Given the description of an element on the screen output the (x, y) to click on. 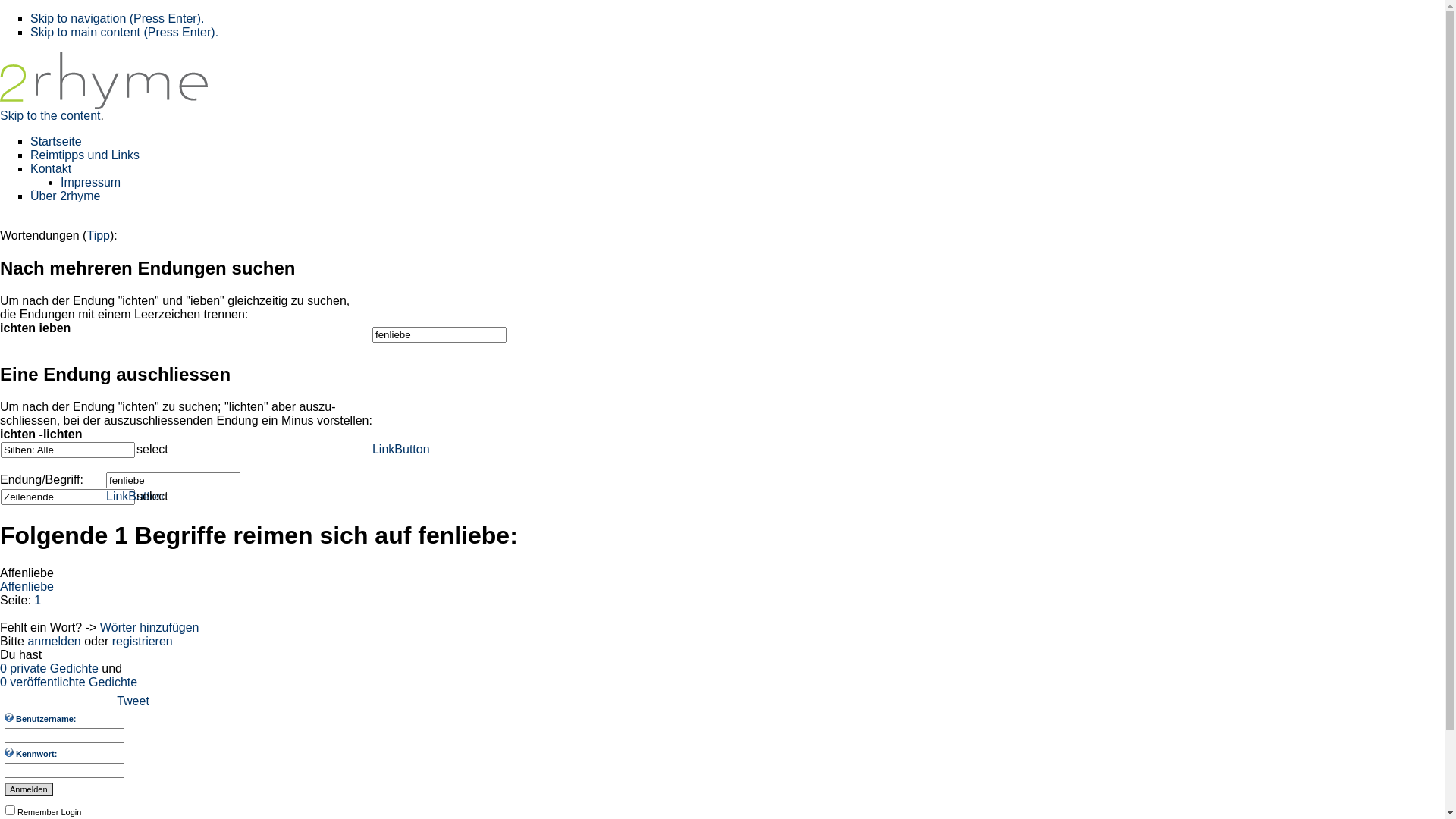
f Element type: text (9, 585)
b Element type: text (43, 585)
Skip to navigation (Press Enter). Element type: text (116, 18)
1 Element type: text (37, 599)
Startseite Element type: text (55, 140)
e Element type: text (50, 585)
Kontakt Element type: text (50, 168)
select Element type: text (152, 496)
e Element type: text (17, 585)
e Element type: text (36, 585)
n Element type: text (24, 585)
i Element type: text (32, 585)
Geben Sie hier Ihren Benutzernamen an. Element type: hover (8, 716)
0 private Gedichte Element type: text (49, 667)
Tweet Element type: text (132, 700)
Skip to the content Element type: text (50, 115)
2rhyme - Das deutsche Reimlexikon Element type: hover (103, 104)
Geben Sie Ihr Kennwort ein. Element type: hover (8, 751)
LinkButton Element type: text (134, 495)
Skip to main content (Press Enter). Element type: text (124, 31)
Anmelden Element type: text (28, 789)
Reimtipps und Links Element type: text (84, 154)
f Element type: text (12, 585)
A Element type: text (4, 585)
Impressum Element type: text (90, 181)
LinkButton Element type: text (400, 448)
select Element type: text (152, 449)
l Element type: text (29, 585)
Tipp Element type: text (97, 235)
anmelden Element type: text (53, 639)
registrieren Element type: text (142, 639)
